Given the description of an element on the screen output the (x, y) to click on. 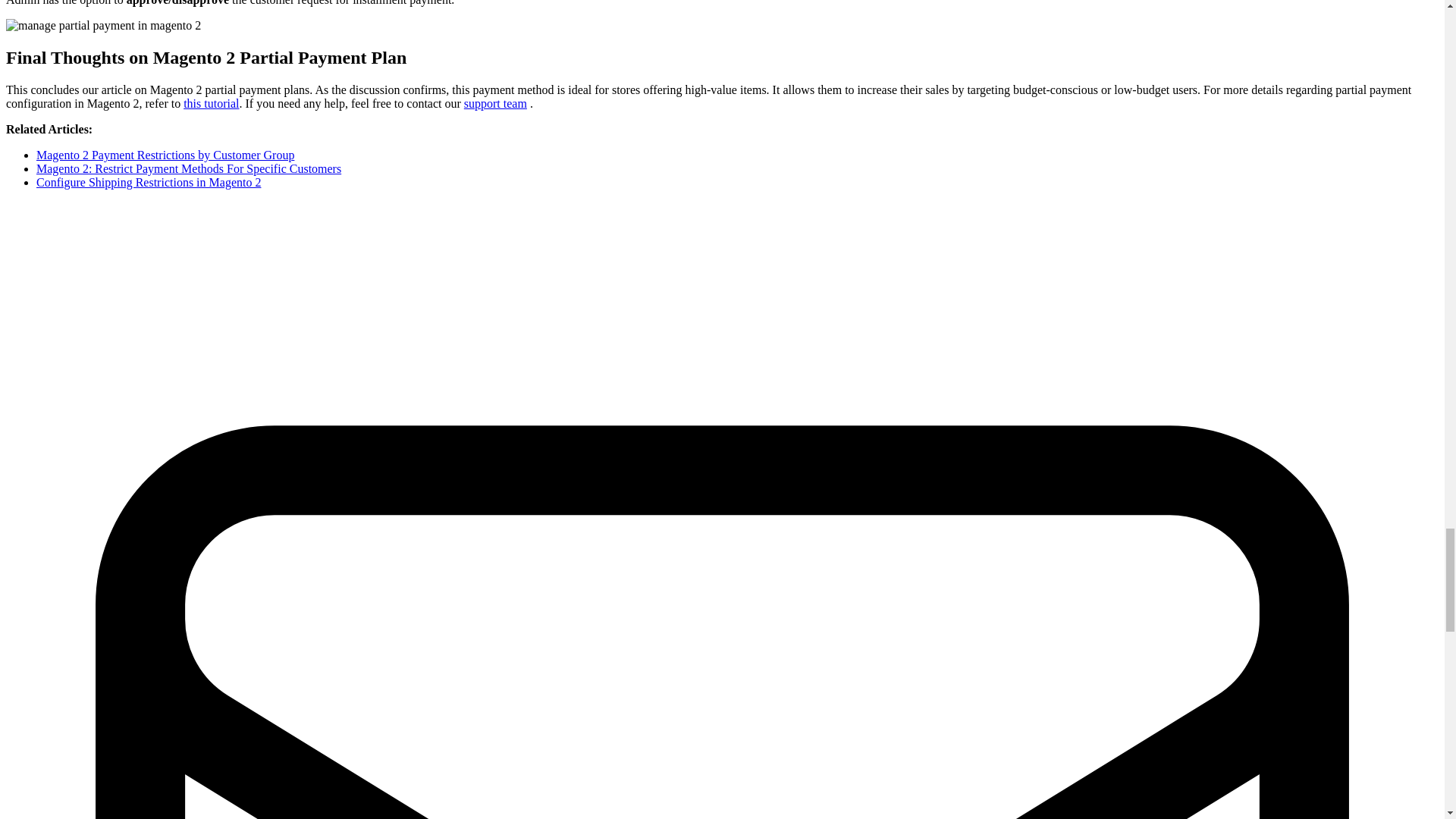
this tutorial (210, 103)
Magento 2 Payment Restrictions by Customer Group (165, 154)
support team (495, 103)
Configure Shipping Restrictions in Magento 2 (148, 182)
Magento 2: Restrict Payment Methods For Specific Customers (188, 168)
